Given the description of an element on the screen output the (x, y) to click on. 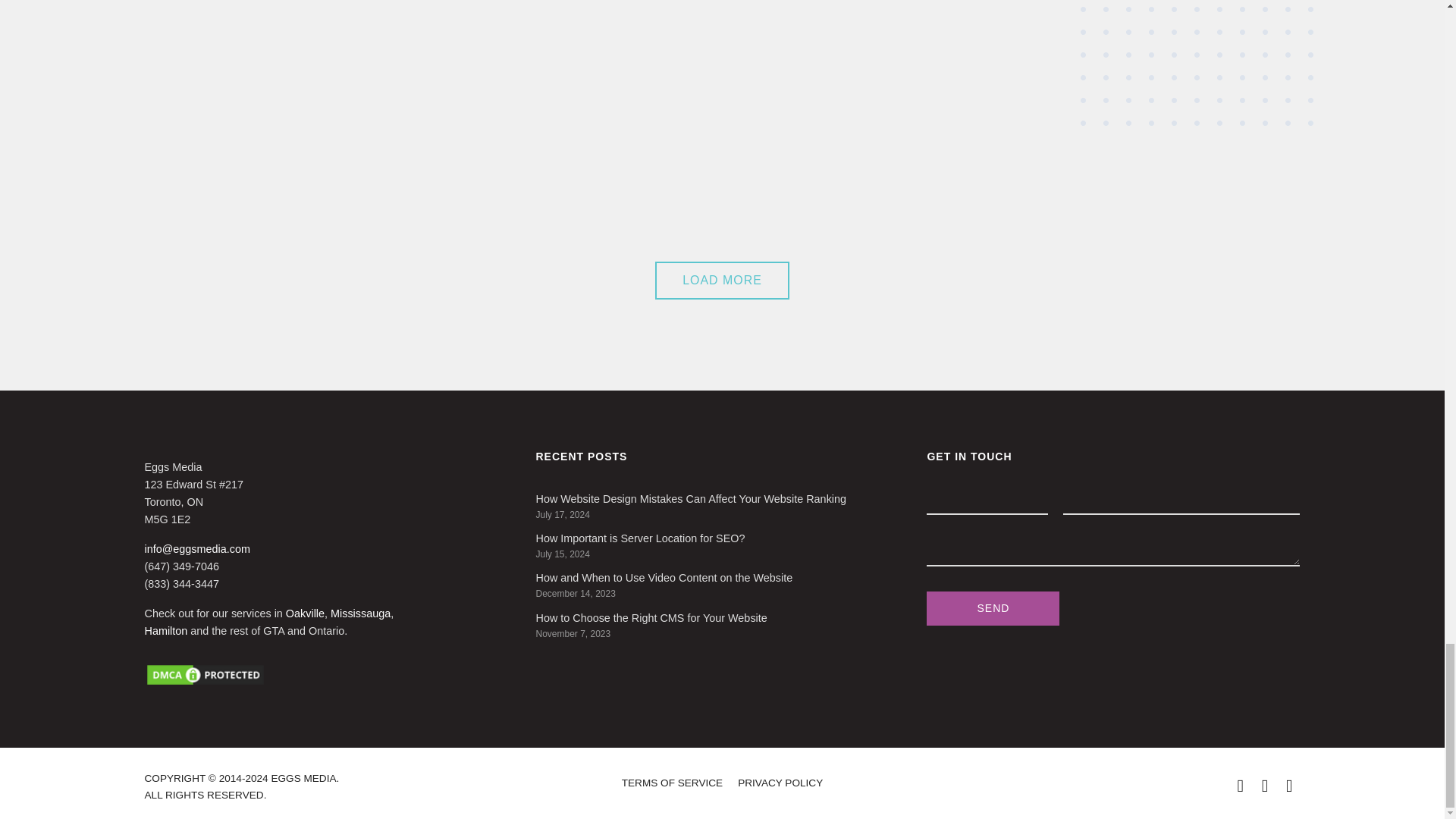
DMCA.com Protection Status (330, 674)
Eggs Media (1196, 63)
